Given the description of an element on the screen output the (x, y) to click on. 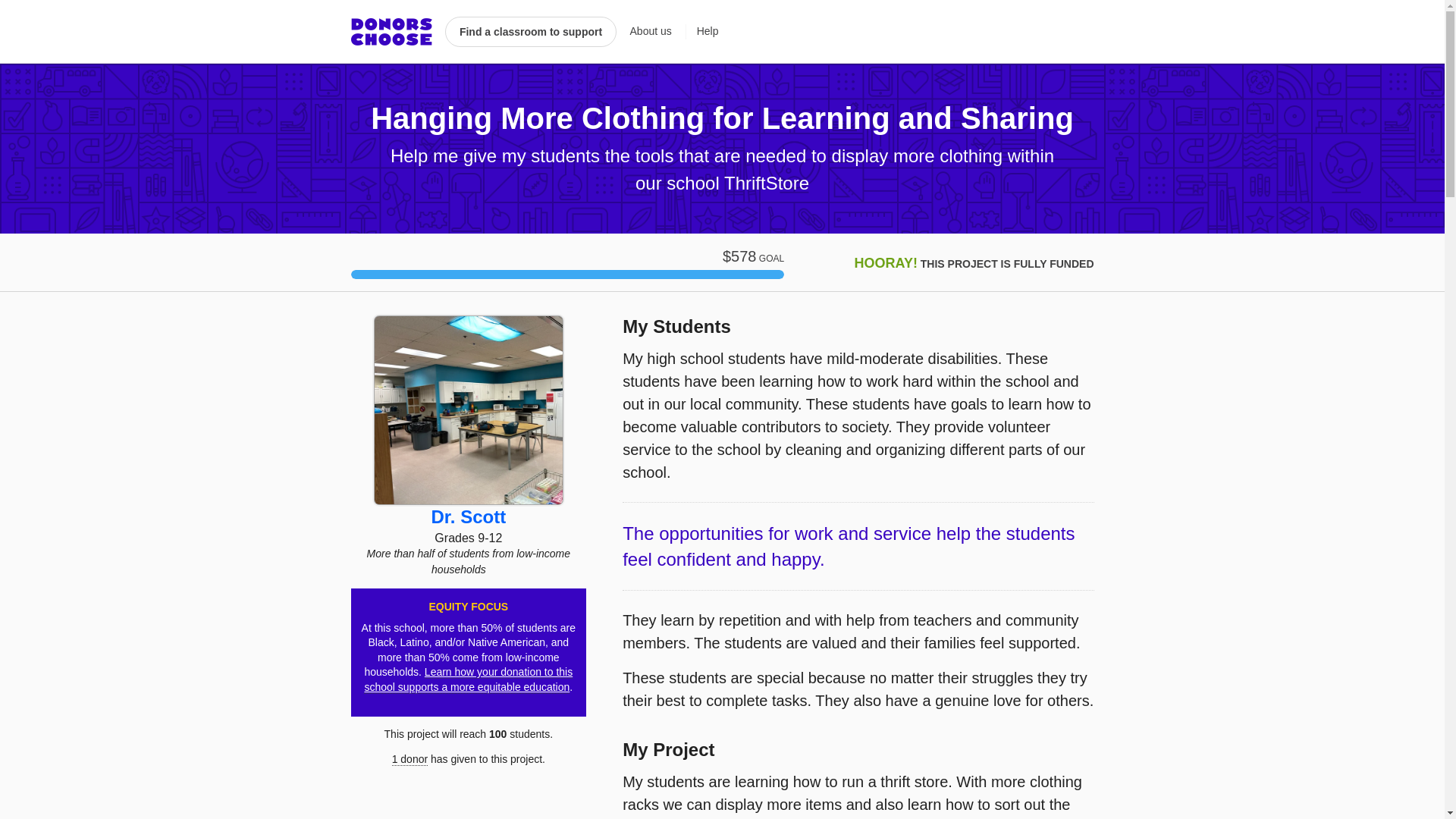
See this teacher's page (468, 410)
Find a classroom to support (530, 31)
Help (702, 31)
See this teacher's page (467, 516)
DonorsChoose (390, 31)
About us (650, 31)
